Given the description of an element on the screen output the (x, y) to click on. 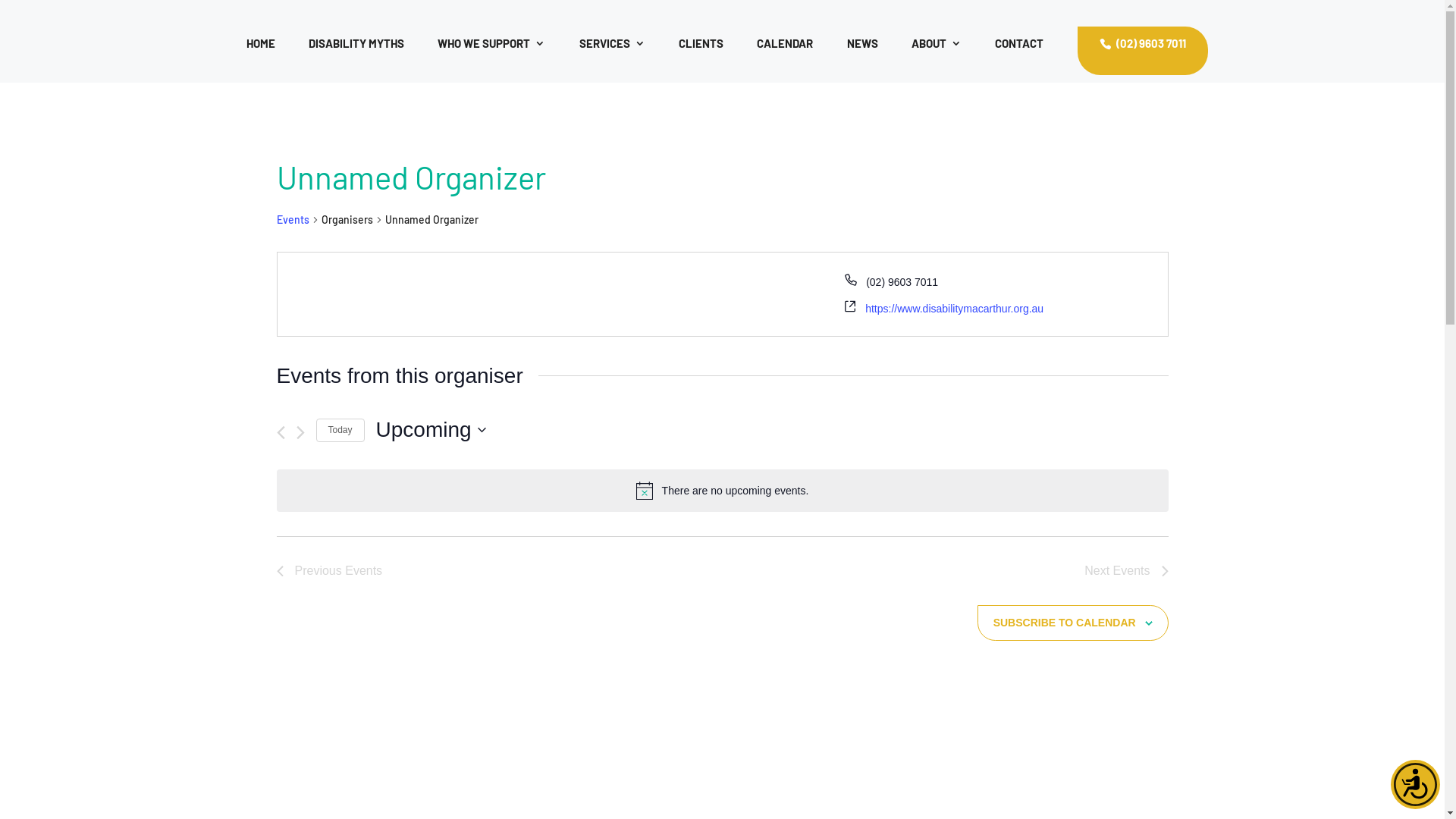
DISABILITY MYTHS Element type: text (356, 56)
NEWS Element type: text (862, 56)
WHO WE SUPPORT Element type: text (491, 56)
HOME Element type: text (260, 56)
Upcoming Element type: text (431, 429)
Previous Events Element type: hover (280, 432)
Today Element type: text (339, 430)
SUBSCRIBE TO CALENDAR Element type: text (1064, 622)
Next Events Element type: text (1125, 570)
CALENDAR Element type: text (784, 56)
ABOUT Element type: text (936, 56)
Previous Events Element type: text (329, 570)
https://www.disabilitymacarthur.org.au Element type: text (954, 309)
Next Events Element type: hover (299, 432)
(02) 9603 7011 Element type: text (1141, 50)
CLIENTS Element type: text (700, 56)
Events Element type: text (292, 220)
CONTACT Element type: text (1018, 56)
SERVICES Element type: text (612, 56)
